Given the description of an element on the screen output the (x, y) to click on. 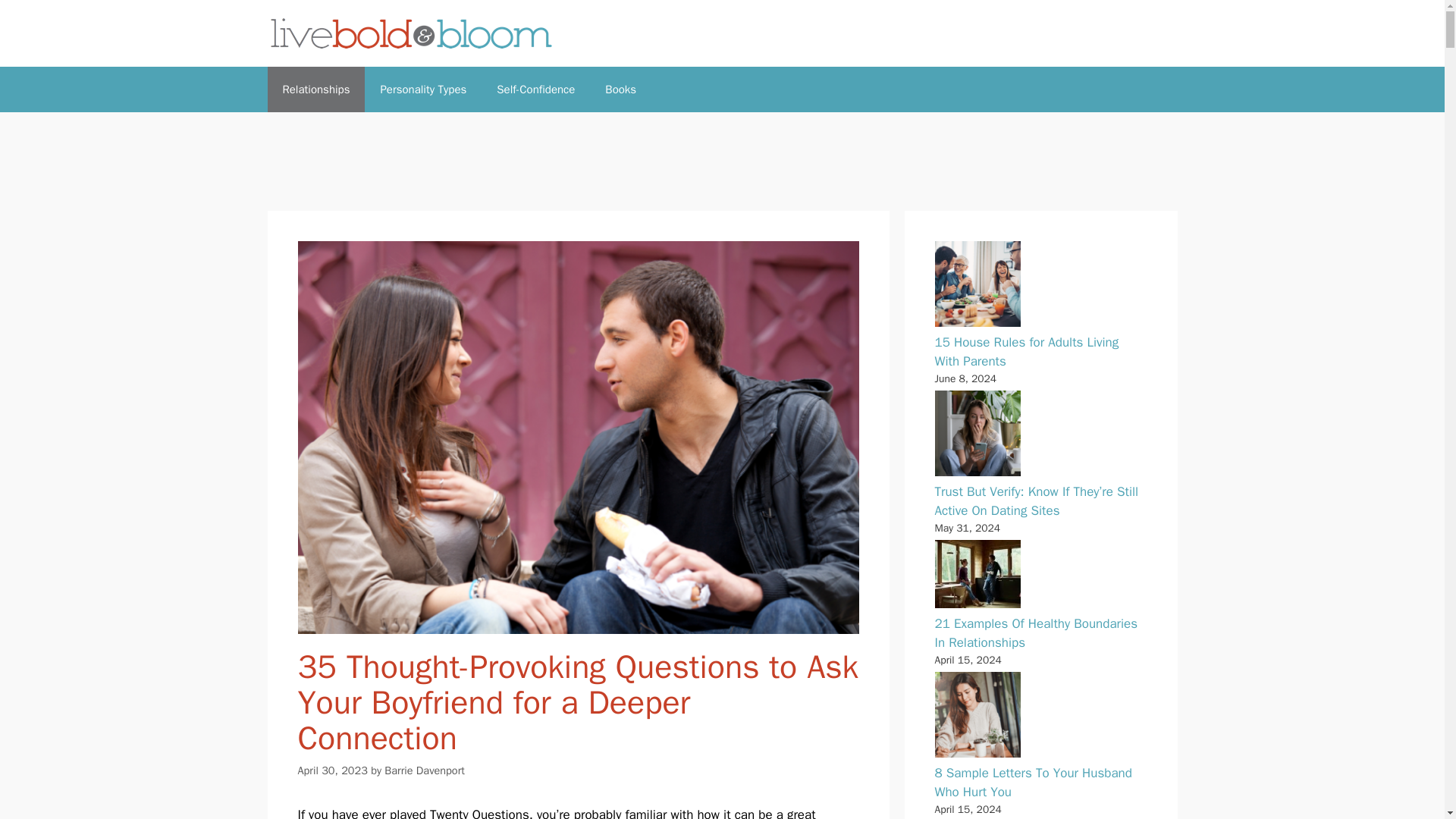
Personality Types (423, 89)
Barrie Davenport (424, 770)
View all posts by Barrie Davenport (424, 770)
Books (619, 89)
Self-Confidence (535, 89)
Relationships (315, 89)
